Given the description of an element on the screen output the (x, y) to click on. 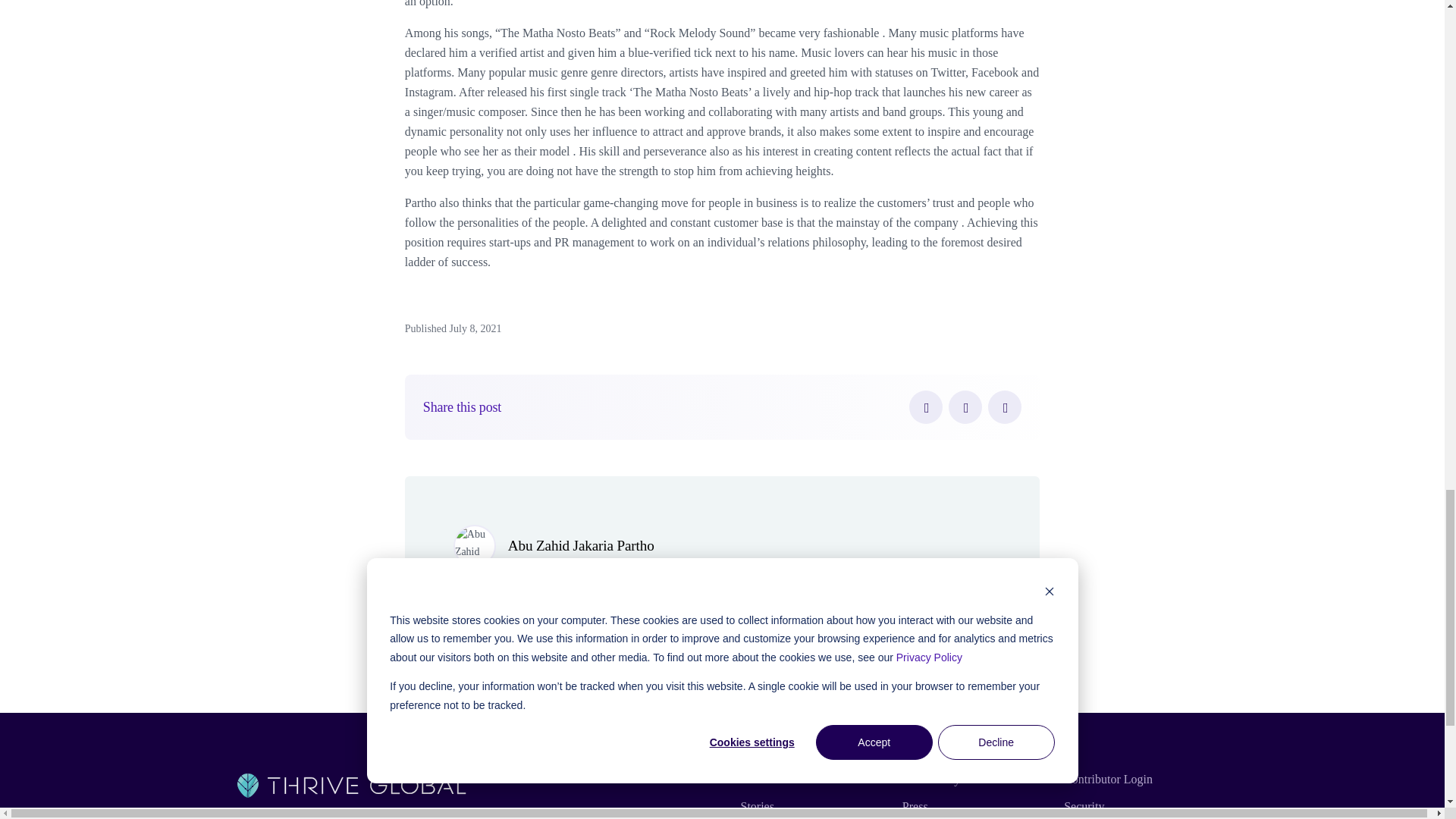
Facebook (925, 407)
LinkedIn (1005, 407)
Abu Zahid Jakaria Partho (580, 545)
Twitter (965, 407)
